Given the description of an element on the screen output the (x, y) to click on. 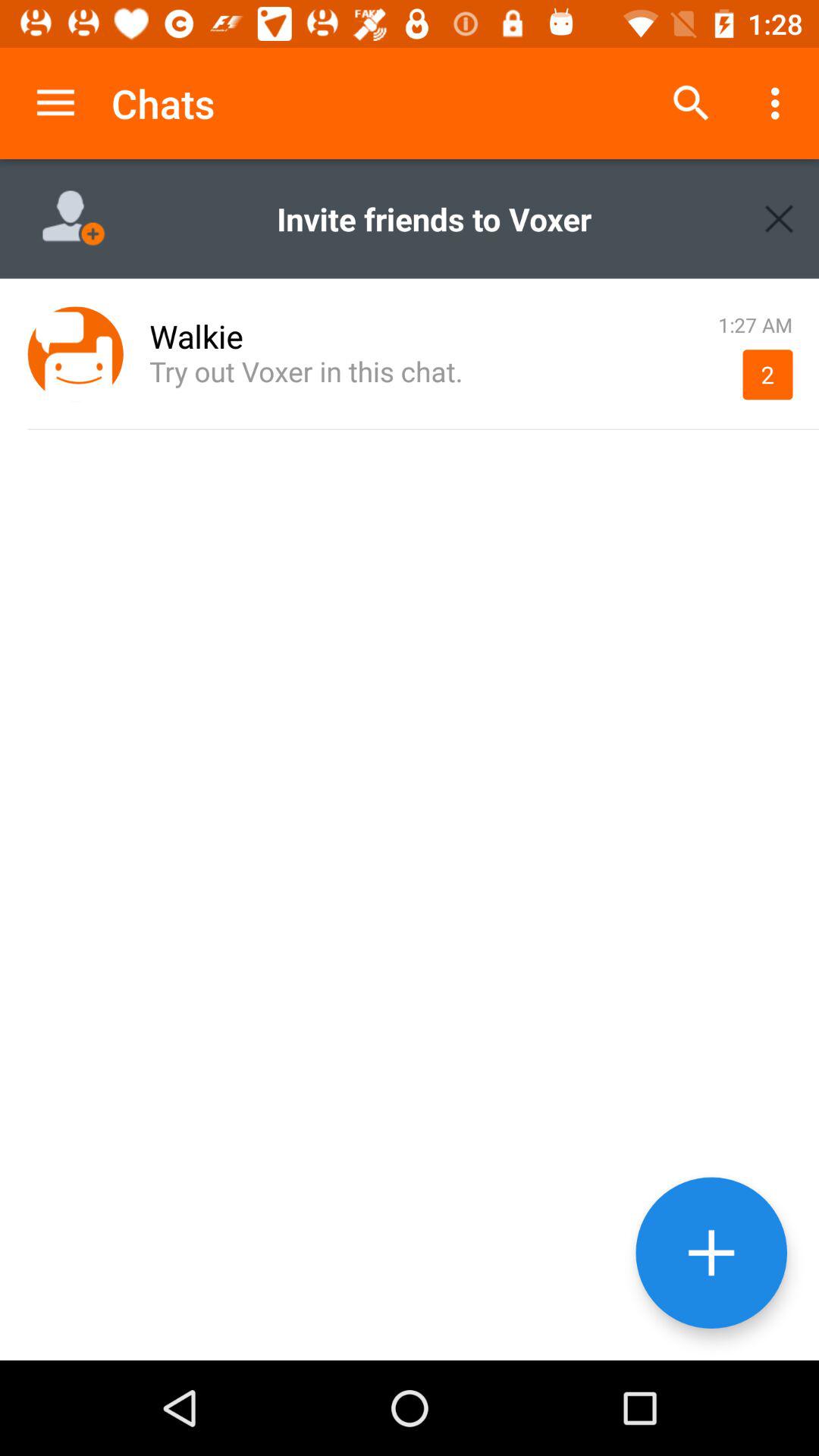
exit/close button (779, 218)
